Given the description of an element on the screen output the (x, y) to click on. 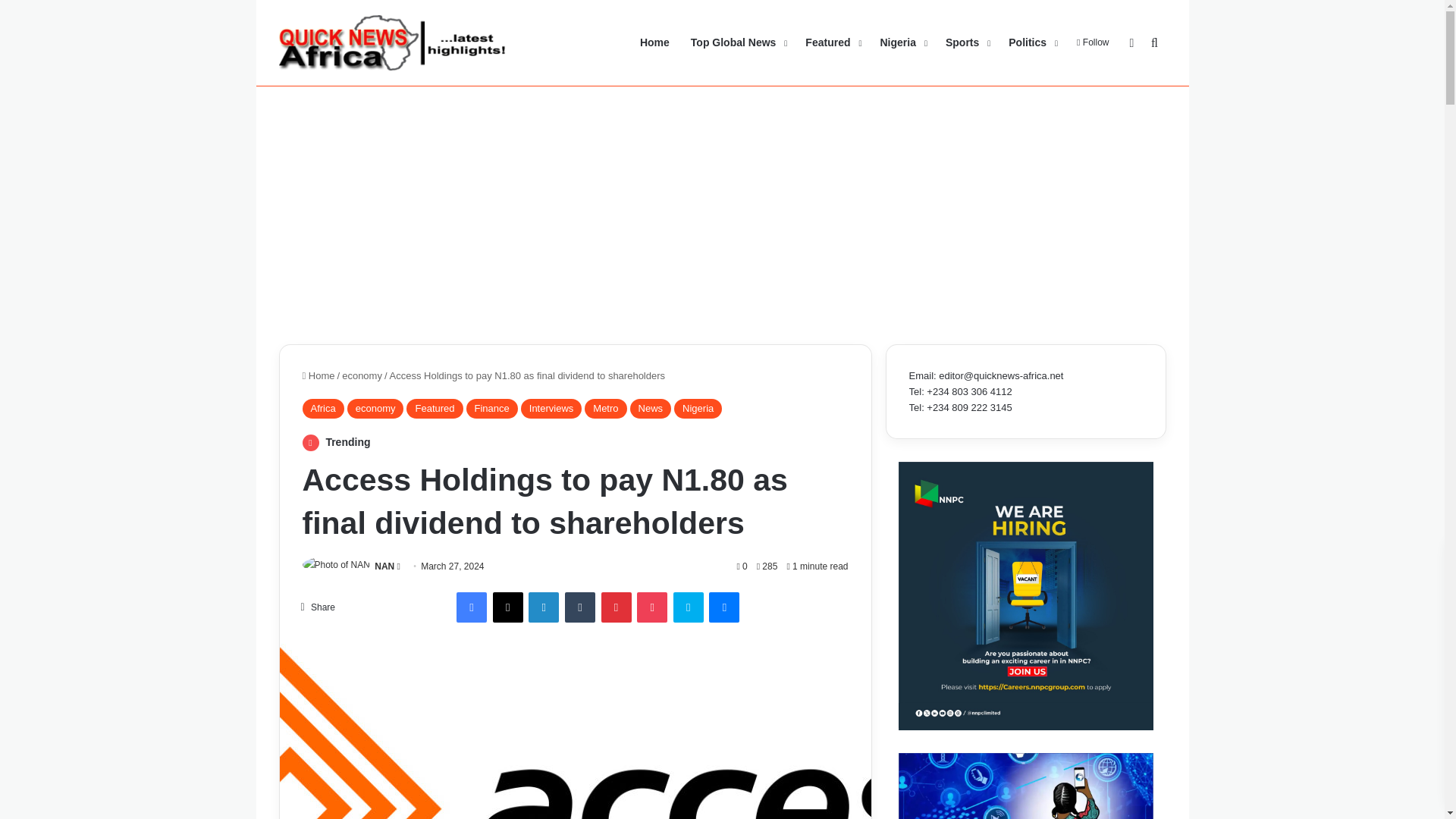
NAN (384, 566)
X (507, 607)
Top Global News (736, 42)
Home (317, 375)
QUICK NEWS AFRICA (392, 42)
Facebook (471, 607)
